Given the description of an element on the screen output the (x, y) to click on. 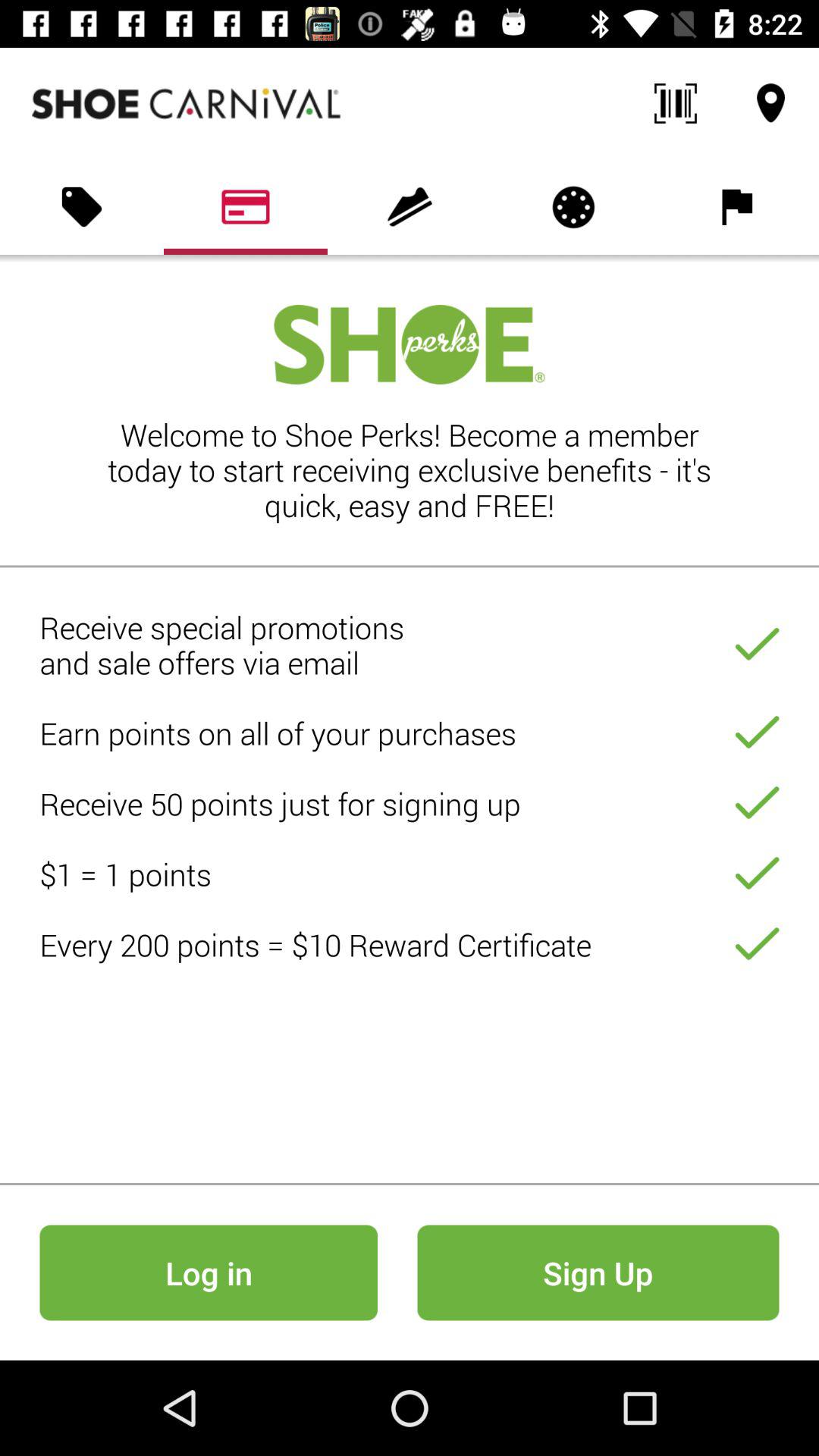
press icon at the bottom right corner (598, 1272)
